Given the description of an element on the screen output the (x, y) to click on. 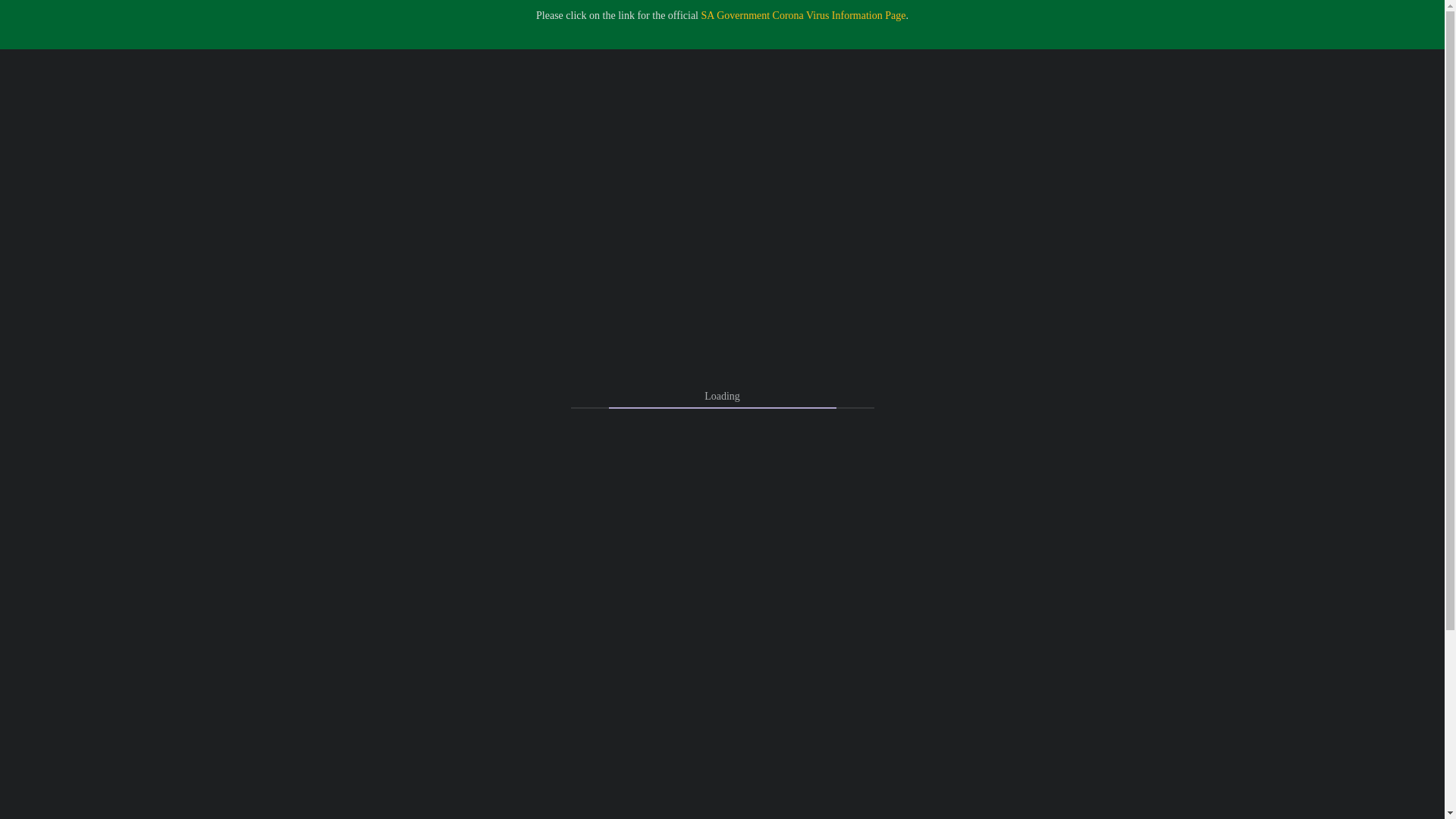
Portfolio (111, 54)
sacoronavirus (803, 15)
Instagram (1409, 55)
Contact (339, 54)
Facebook (1294, 55)
About (274, 54)
Pinterest (1323, 55)
SA Government Corona Virus Information Page (803, 15)
Testimonials (196, 54)
smile emoticon (722, 373)
